Given the description of an element on the screen output the (x, y) to click on. 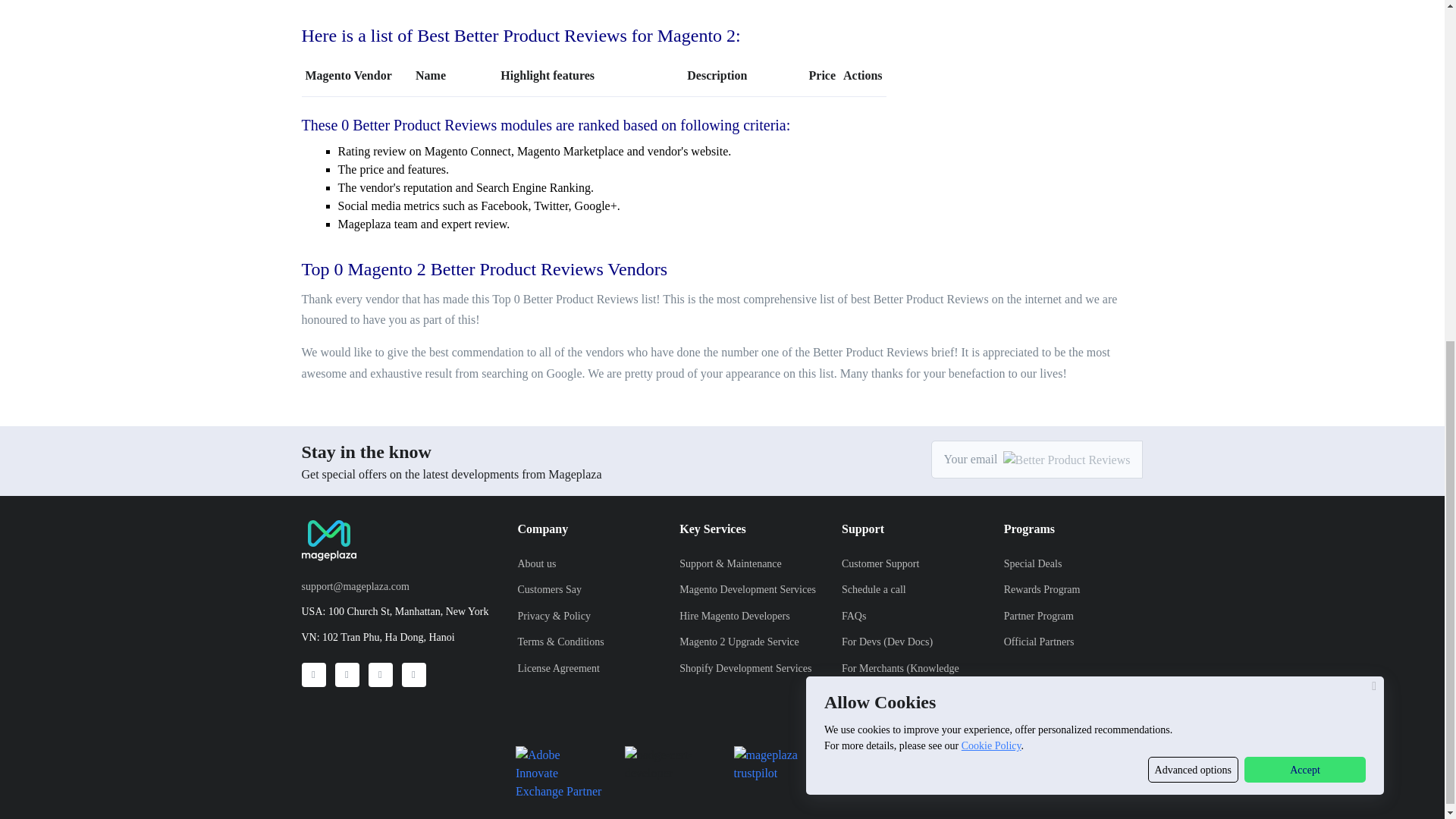
DMCA.com Protection Status (885, 762)
Advanced options (1193, 184)
Cookie Policy (991, 161)
Accept (1304, 184)
